Given the description of an element on the screen output the (x, y) to click on. 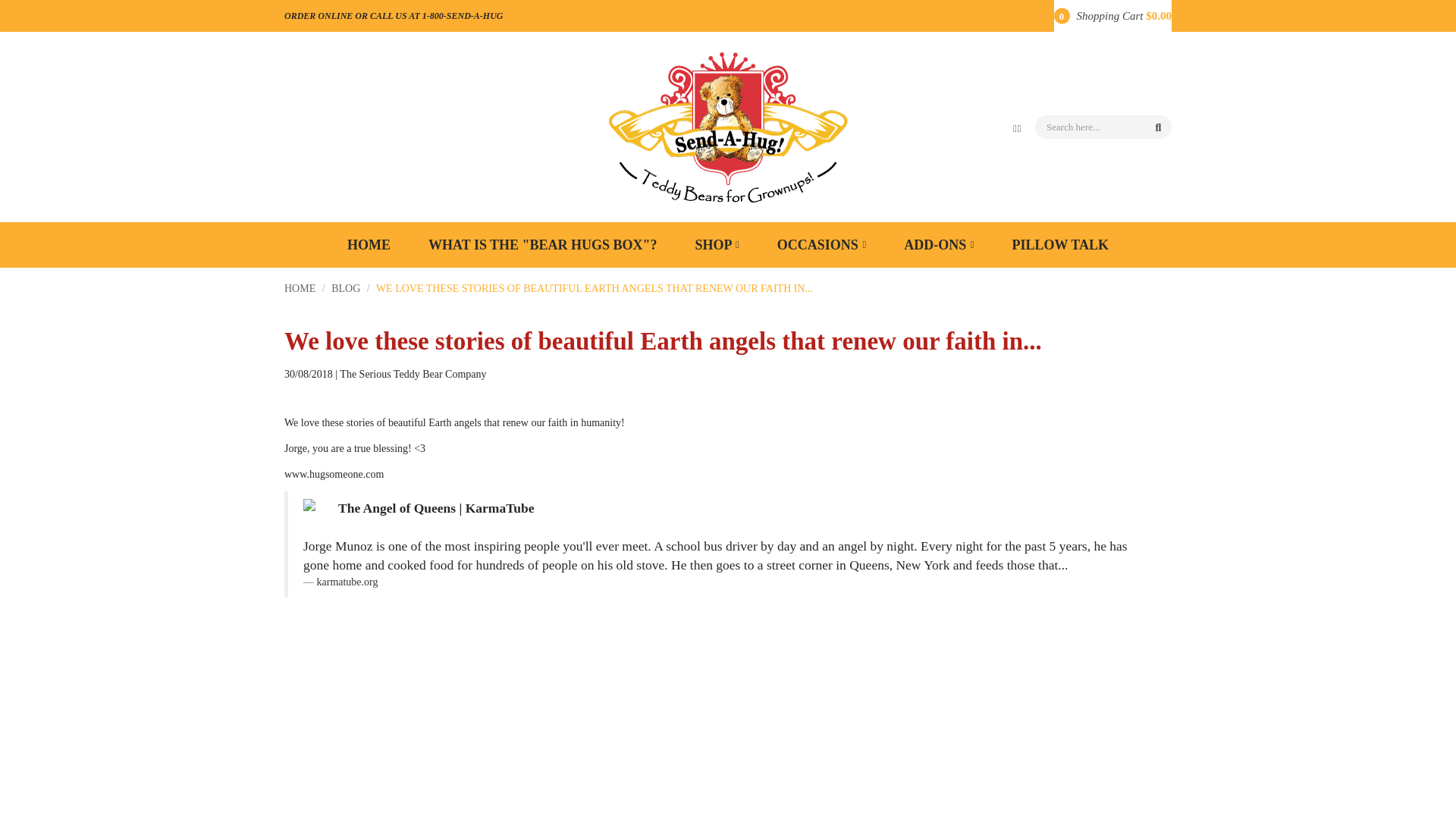
HOME (368, 245)
Back to the frontpage (299, 288)
SHOP (716, 245)
WHAT IS THE "BEAR HUGS BOX"? (542, 245)
OCCASIONS (820, 245)
